Given the description of an element on the screen output the (x, y) to click on. 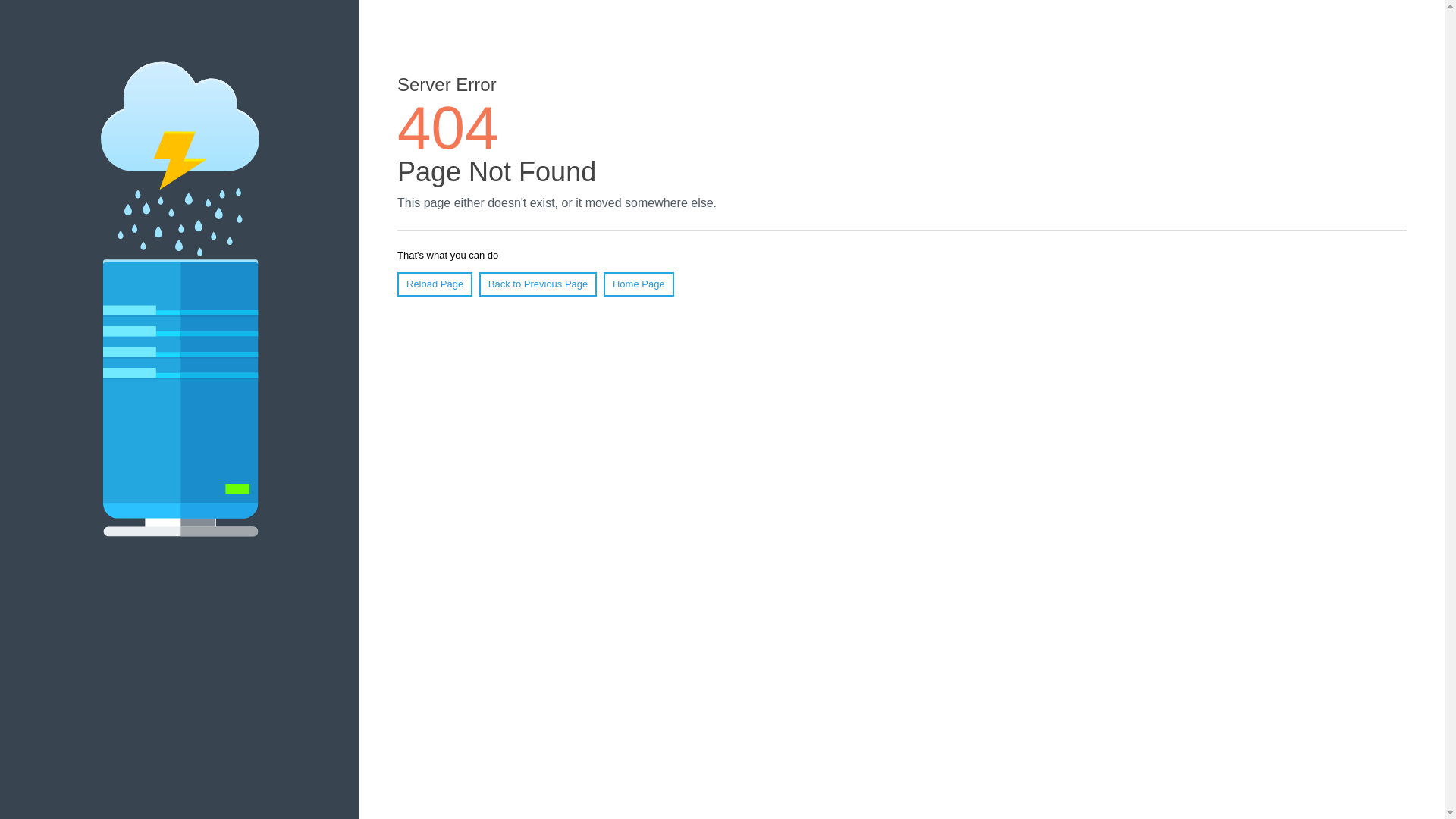
Reload Page Element type: text (434, 284)
Home Page Element type: text (638, 284)
Back to Previous Page Element type: text (538, 284)
